Given the description of an element on the screen output the (x, y) to click on. 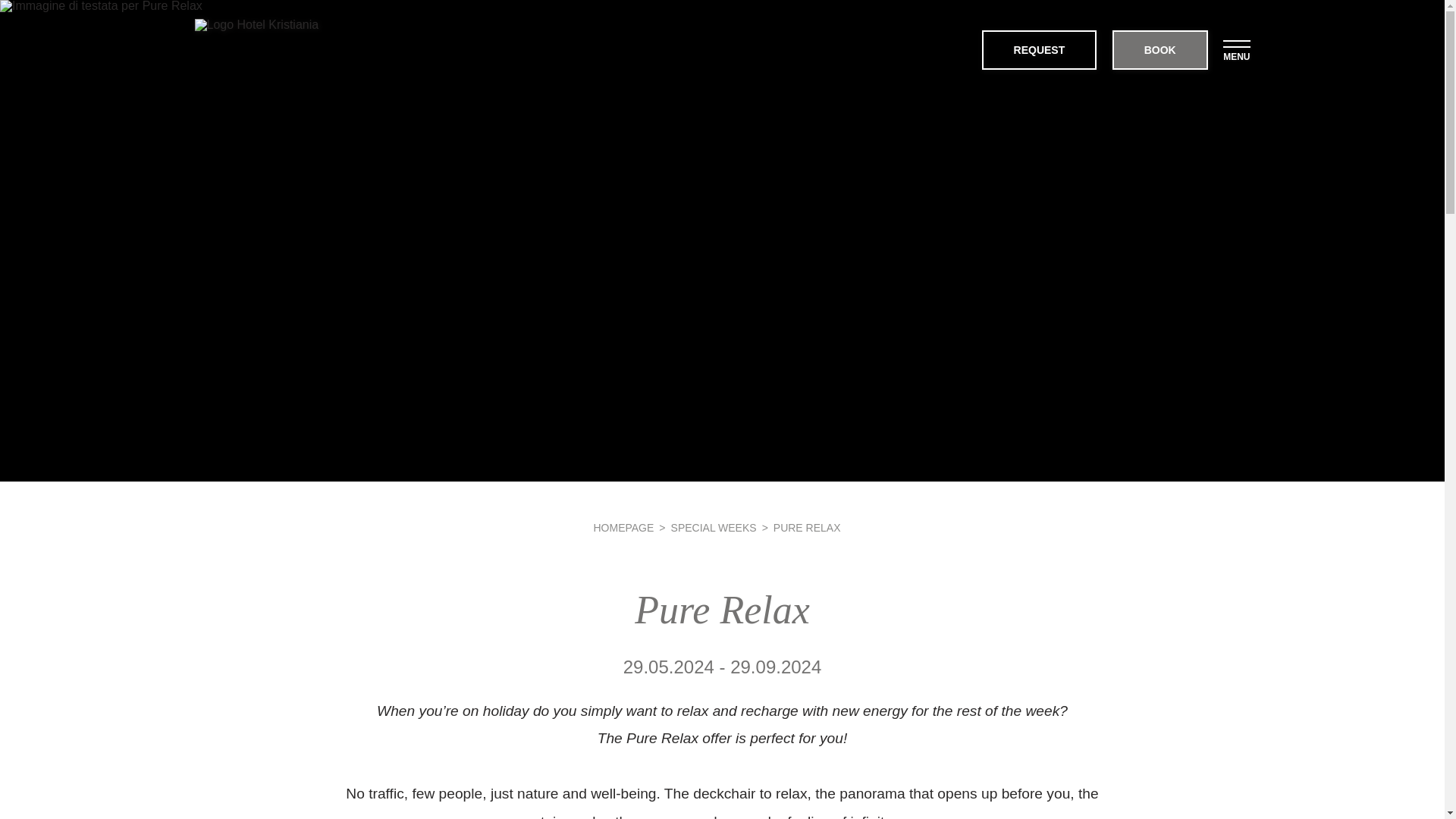
BOOK (1160, 49)
BOOK (1166, 49)
Homepage (622, 527)
Pure Relax (807, 527)
MENU (1236, 45)
REQUEST (1039, 49)
REQUEST (1045, 49)
